Given the description of an element on the screen output the (x, y) to click on. 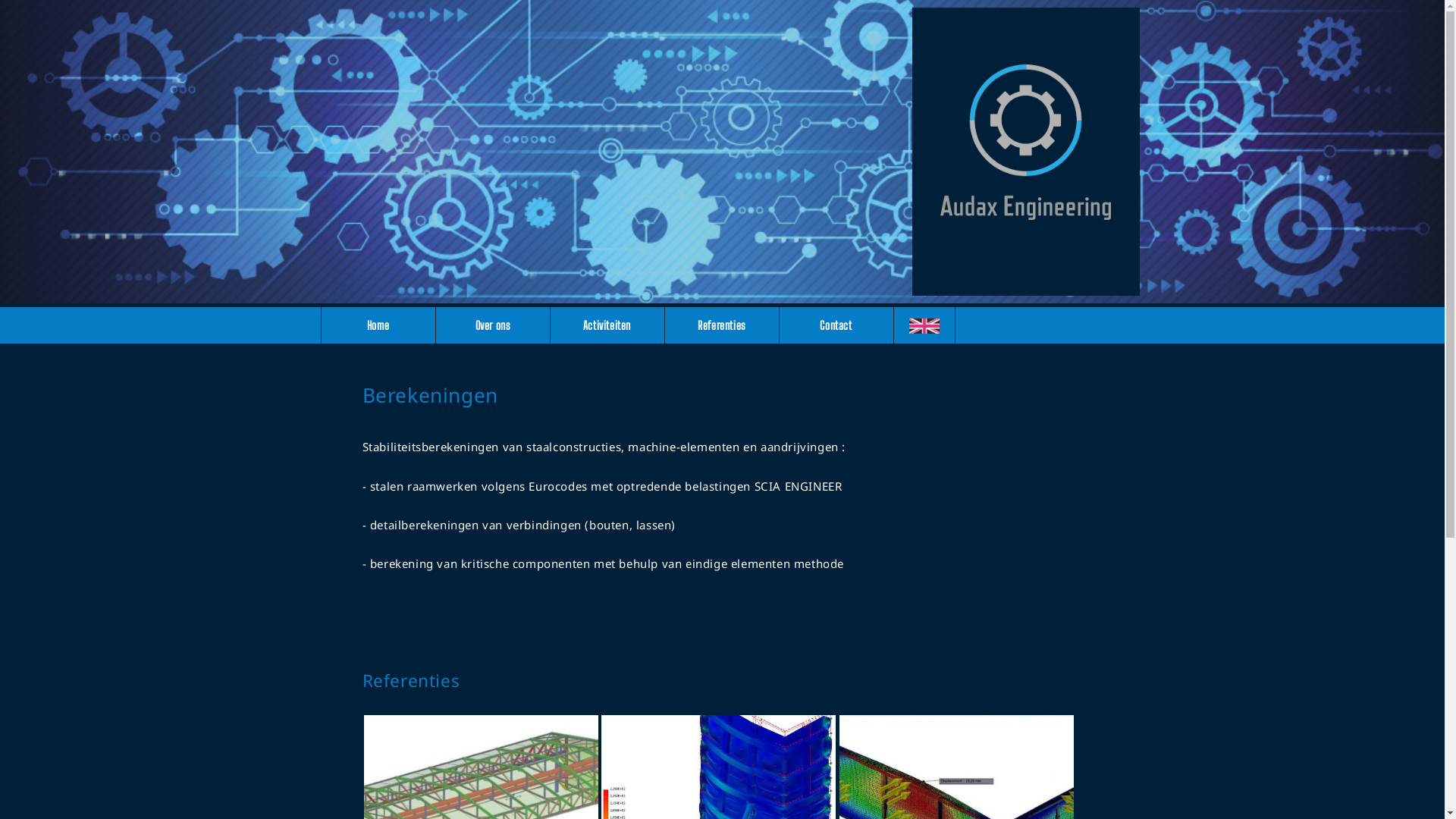
Contact Element type: text (836, 325)
Over ons Element type: text (492, 325)
Activiteiten Element type: text (607, 325)
Referenties Element type: text (721, 325)
Home Element type: text (378, 325)
